Given the description of an element on the screen output the (x, y) to click on. 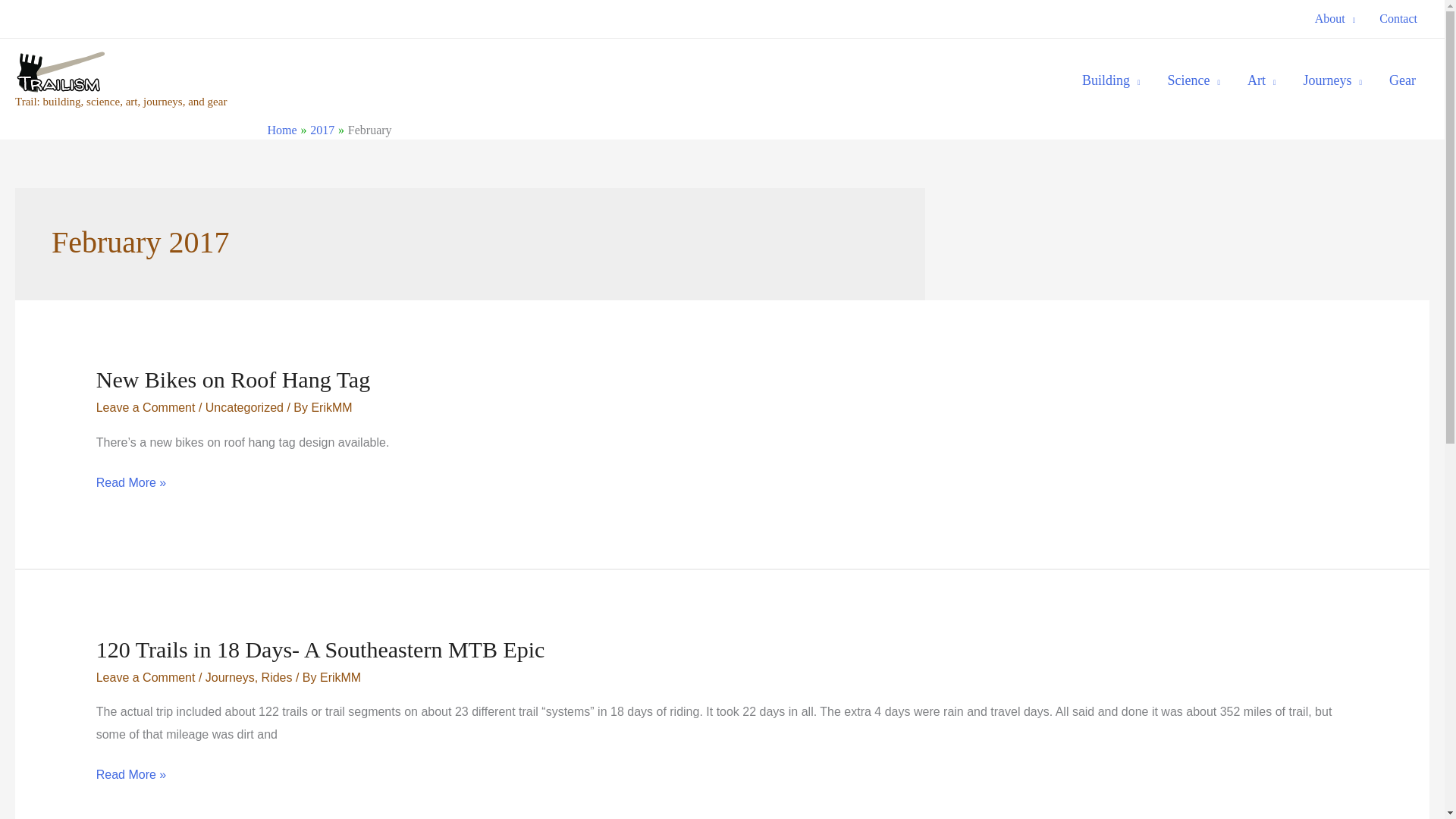
View all posts by ErikMM (340, 676)
About (1335, 18)
Contact (1398, 18)
View all posts by ErikMM (331, 407)
Science (1193, 80)
Building (1111, 80)
